Given the description of an element on the screen output the (x, y) to click on. 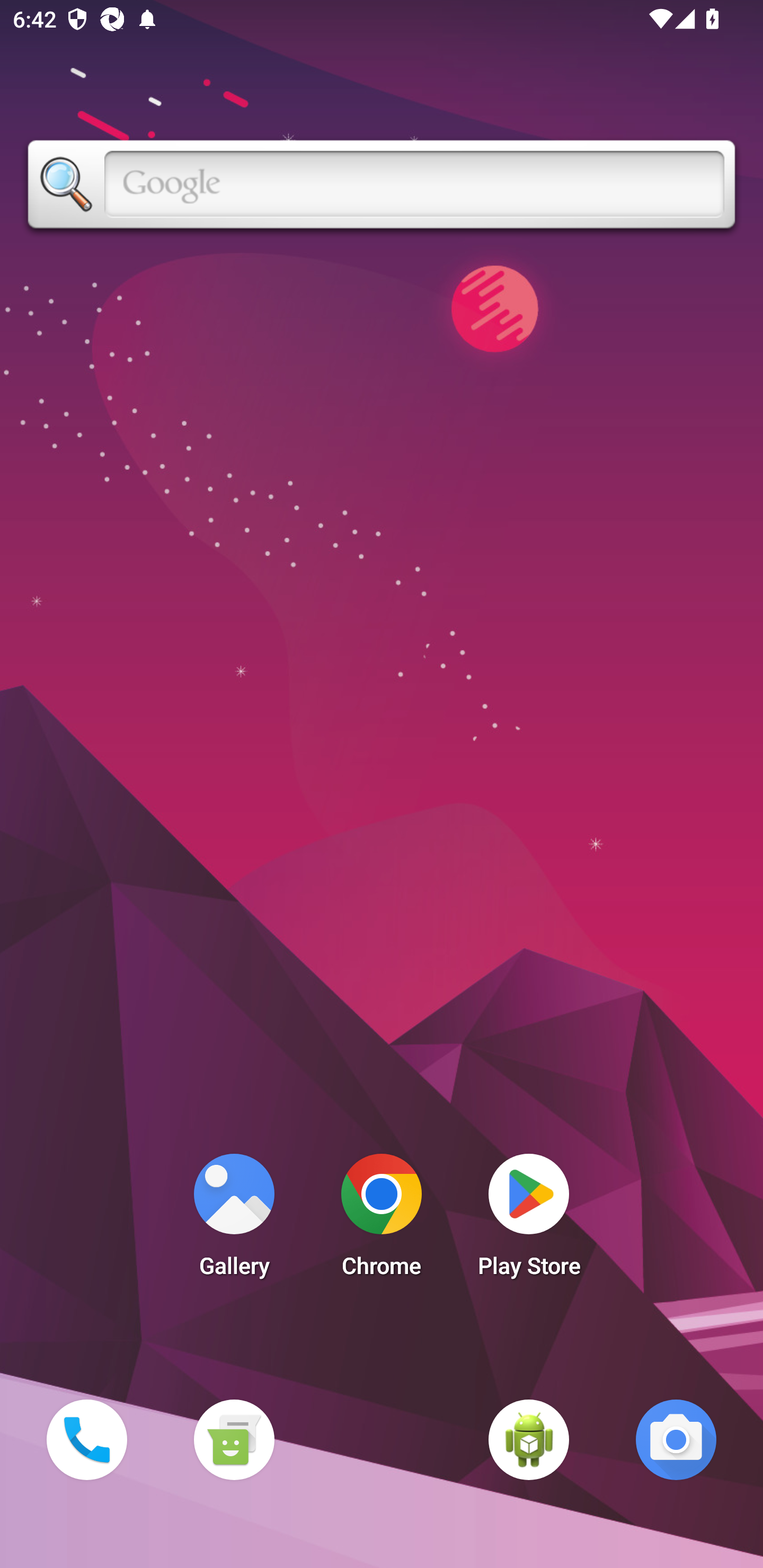
Gallery (233, 1220)
Chrome (381, 1220)
Play Store (528, 1220)
Phone (86, 1439)
Messaging (233, 1439)
WebView Browser Tester (528, 1439)
Camera (676, 1439)
